Given the description of an element on the screen output the (x, y) to click on. 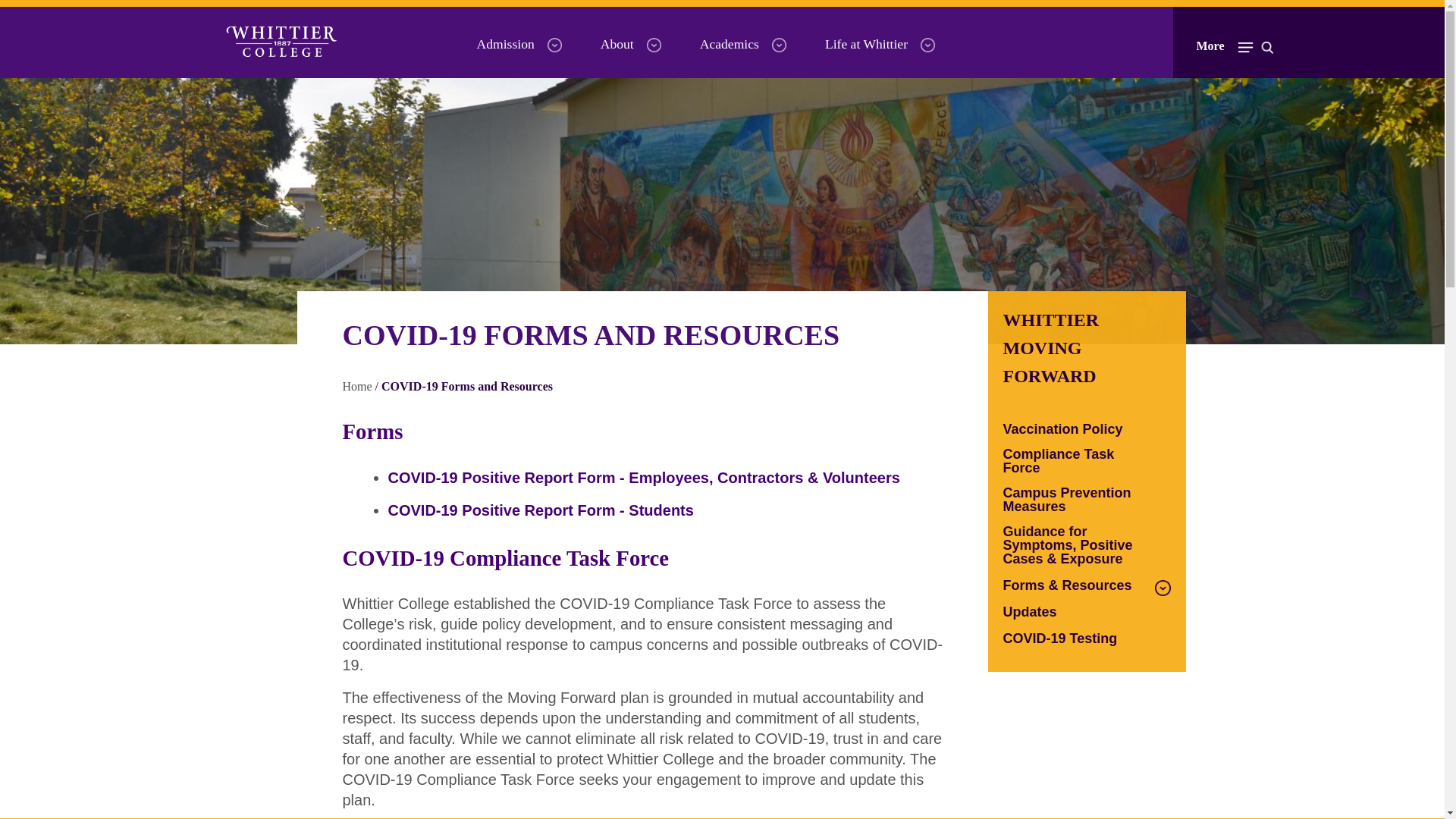
Academics (729, 43)
Admission (505, 43)
About (616, 43)
Life at Whittier (866, 43)
